Given the description of an element on the screen output the (x, y) to click on. 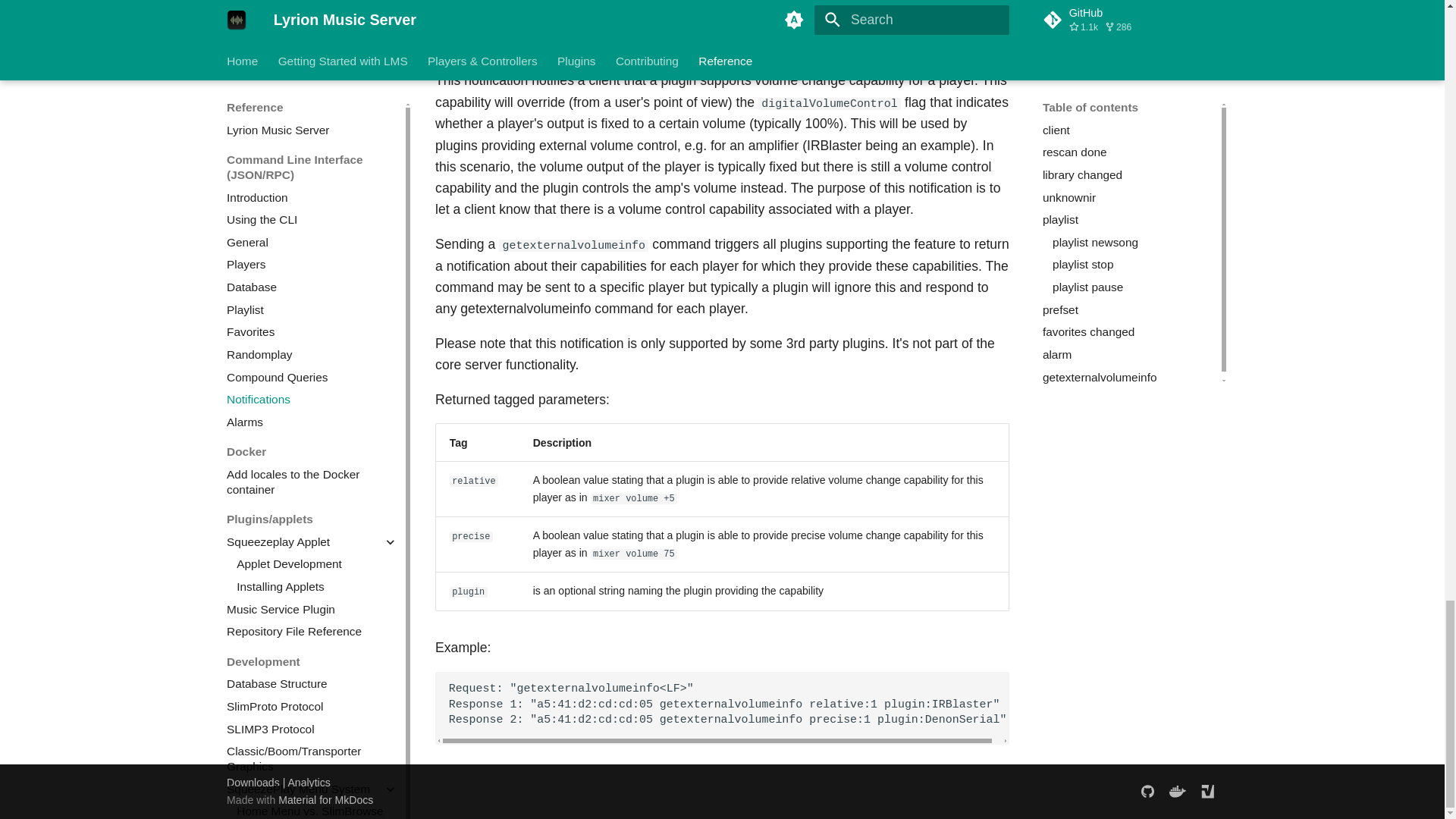
forums.slimdevices.com (1207, 791)
hub.docker.com (1177, 791)
github.com (1147, 791)
